Given the description of an element on the screen output the (x, y) to click on. 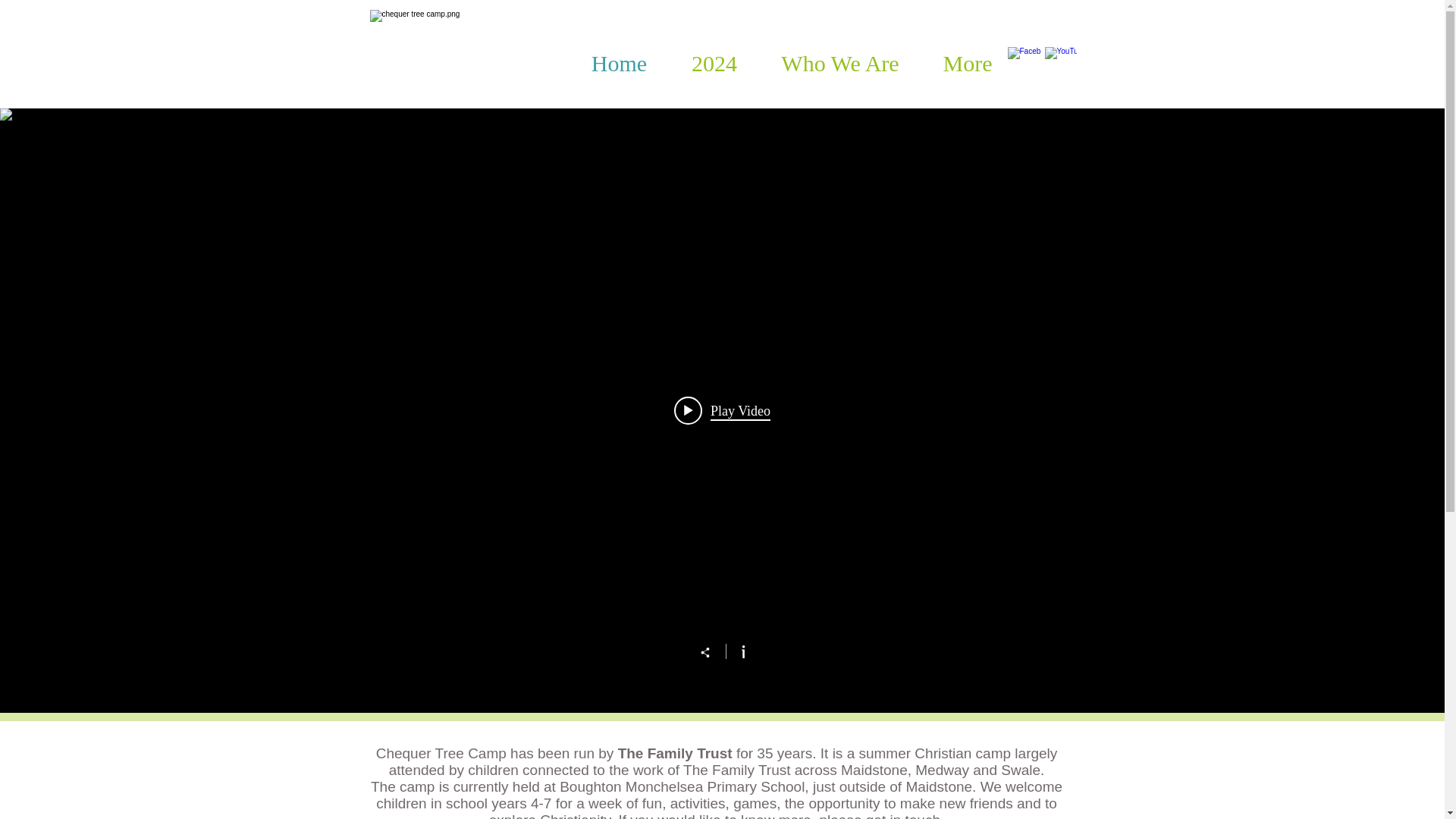
Home (618, 63)
The Family Trust (674, 753)
Play Video (722, 410)
